Given the description of an element on the screen output the (x, y) to click on. 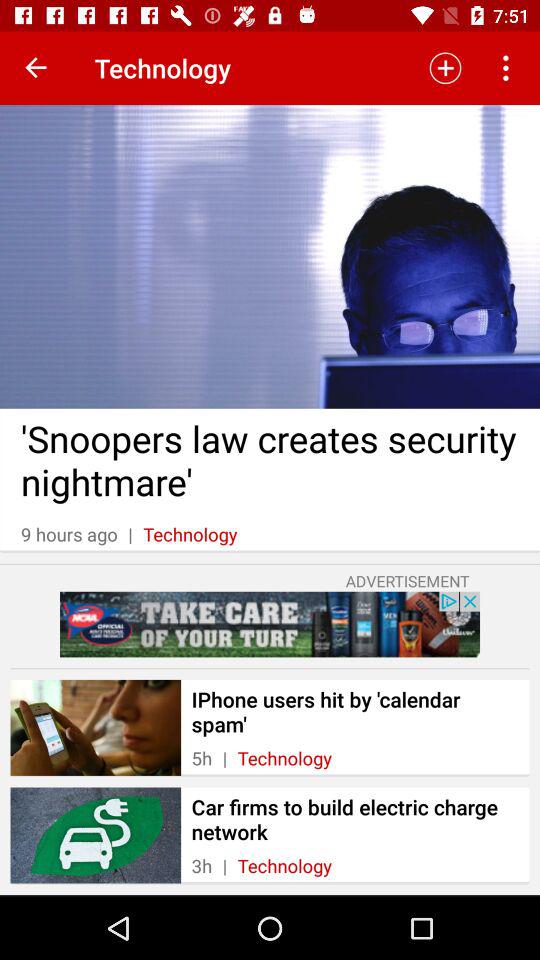
go to advertisement (270, 624)
